Given the description of an element on the screen output the (x, y) to click on. 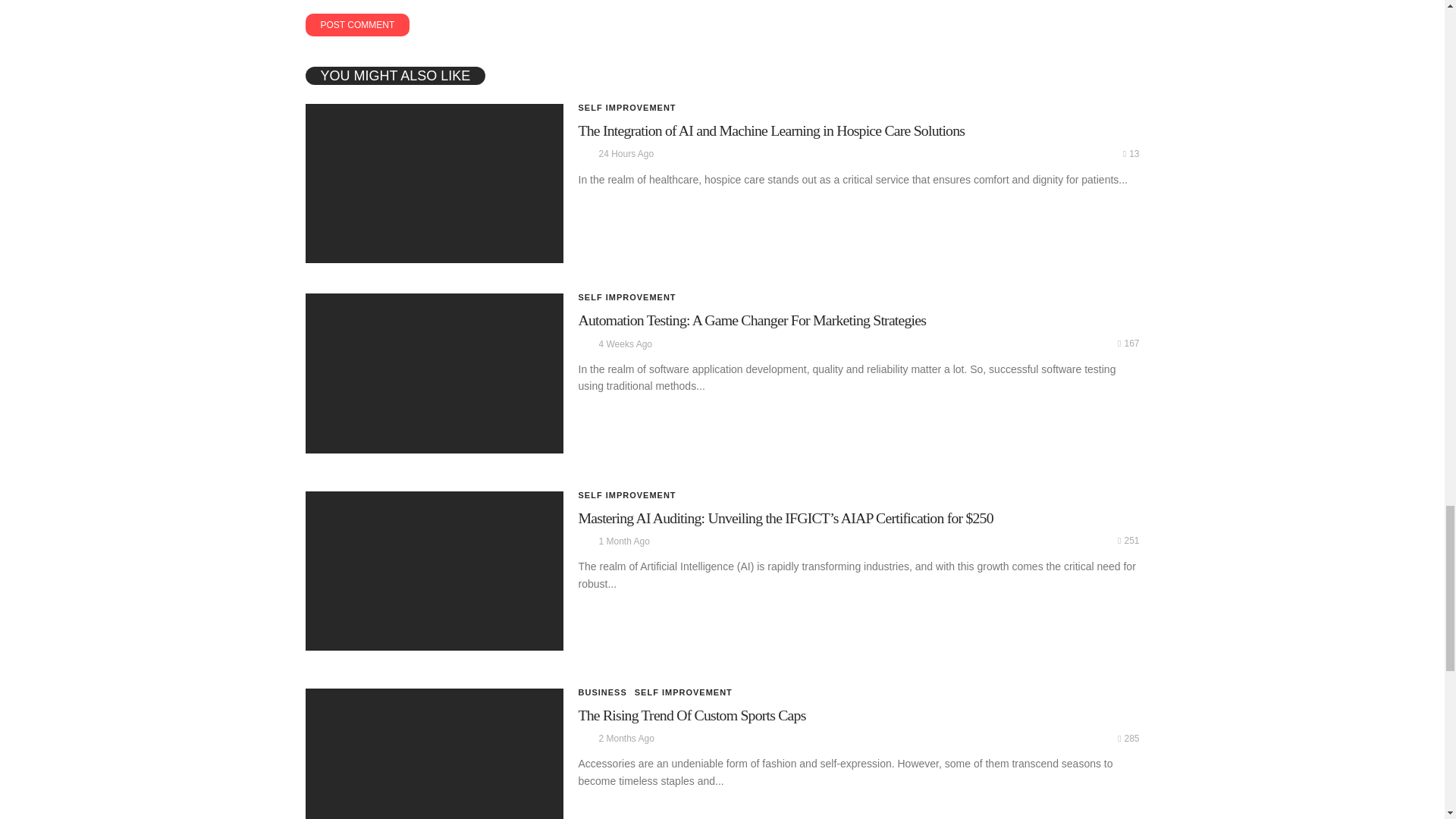
Post Comment (356, 24)
Post Comment (356, 24)
